Given the description of an element on the screen output the (x, y) to click on. 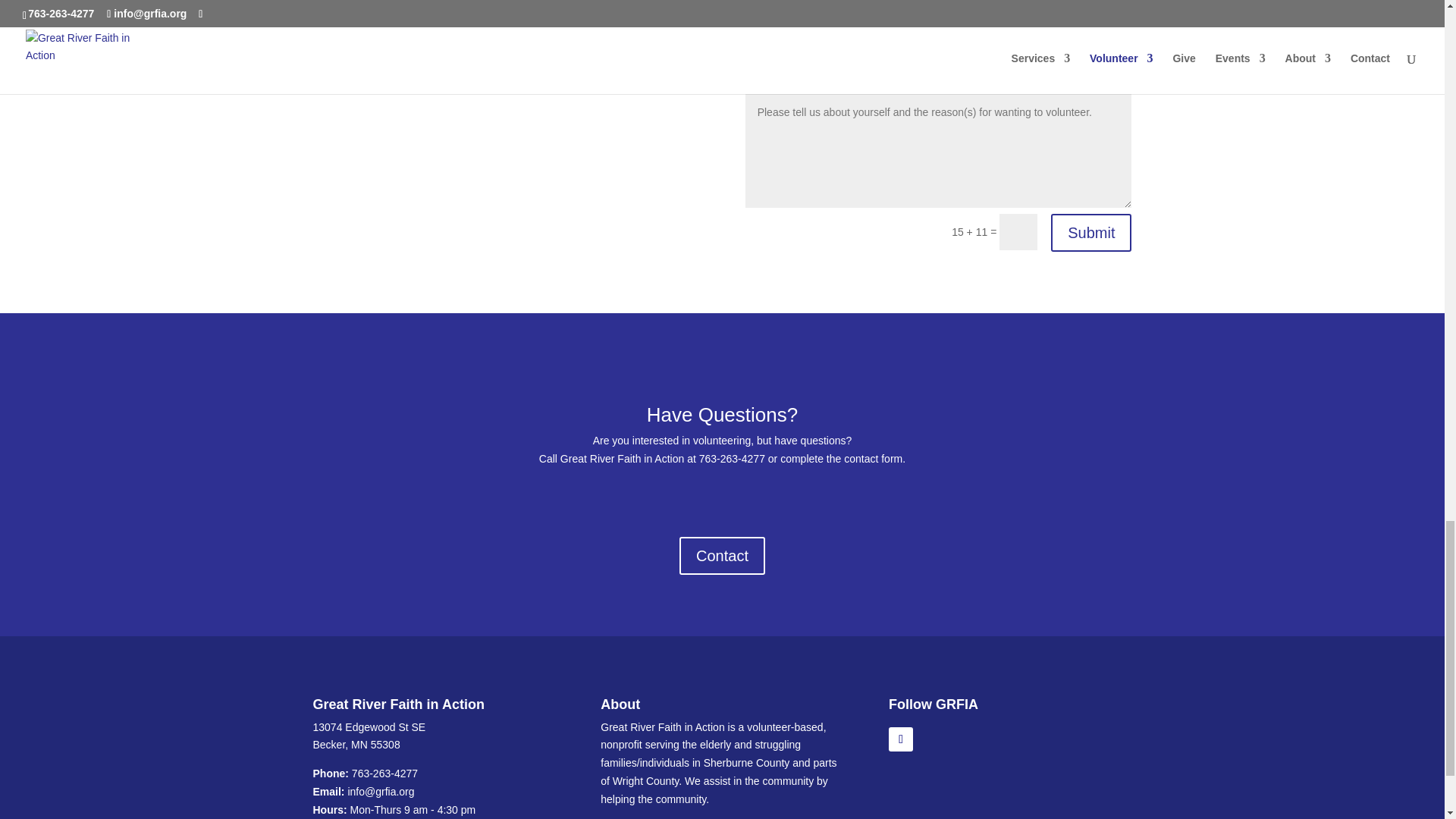
Follow on Facebook (900, 739)
Submit (1091, 232)
Contact (722, 555)
